Given the description of an element on the screen output the (x, y) to click on. 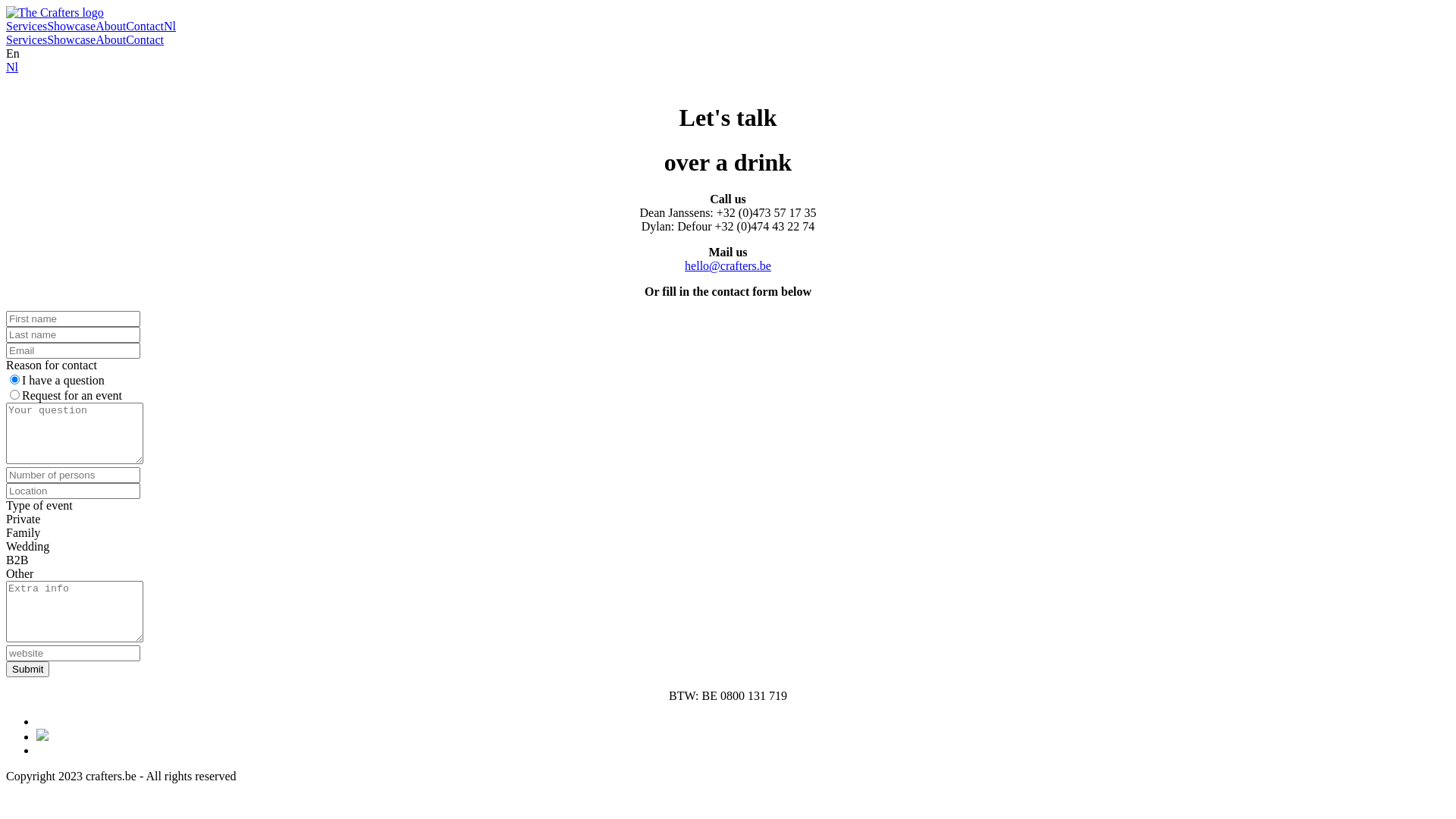
Contact Element type: text (144, 25)
Nl Element type: text (169, 25)
Services Element type: text (26, 25)
About Element type: text (110, 25)
Showcase Element type: text (71, 25)
About Element type: text (110, 39)
Contact Element type: text (144, 39)
hello@crafters.be Element type: text (727, 265)
Submit Element type: text (27, 669)
Nl Element type: text (12, 66)
Showcase Element type: text (71, 39)
Services Element type: text (26, 39)
